Given the description of an element on the screen output the (x, y) to click on. 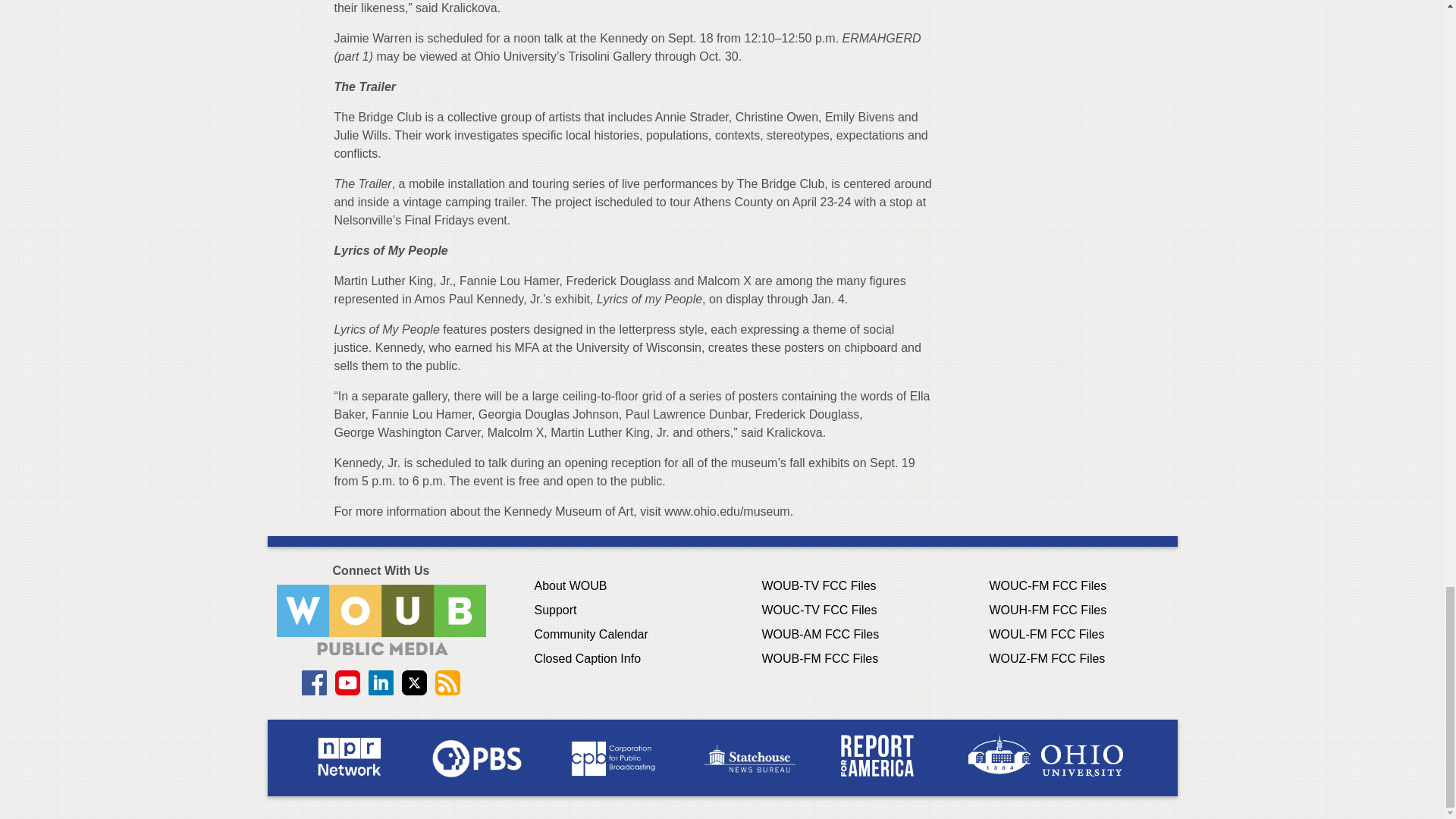
Contact WOUB (380, 619)
